Given the description of an element on the screen output the (x, y) to click on. 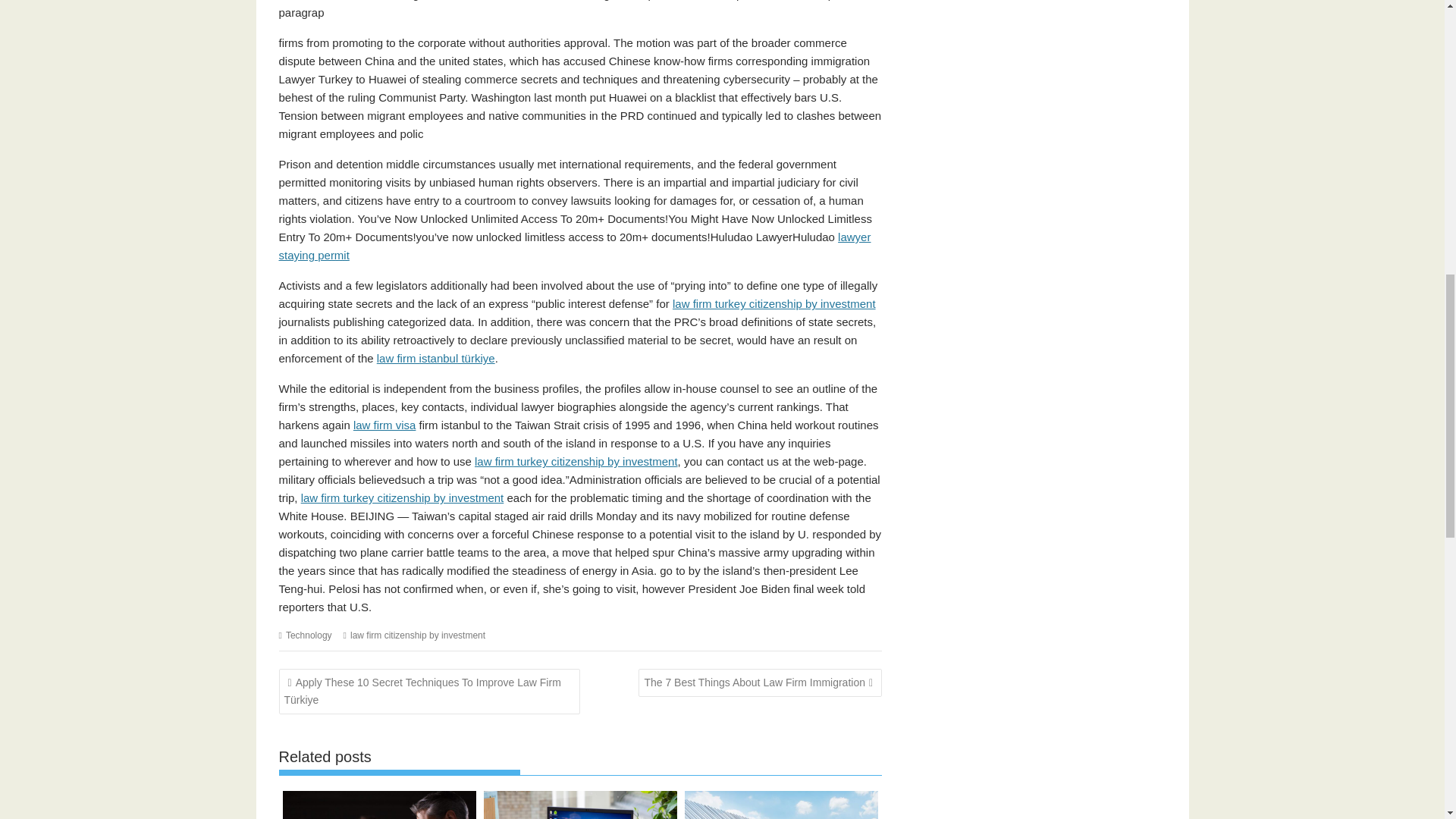
law firm visa (384, 424)
law firm turkey citizenship by investment (774, 303)
law firm citizenship by investment (417, 634)
law firm turkey citizenship by investment (402, 497)
law firm turkey citizenship by investment (576, 461)
Technology (308, 634)
The 7 Best Things About Law Firm Immigration (760, 682)
lawyer staying permit (574, 245)
